Given the description of an element on the screen output the (x, y) to click on. 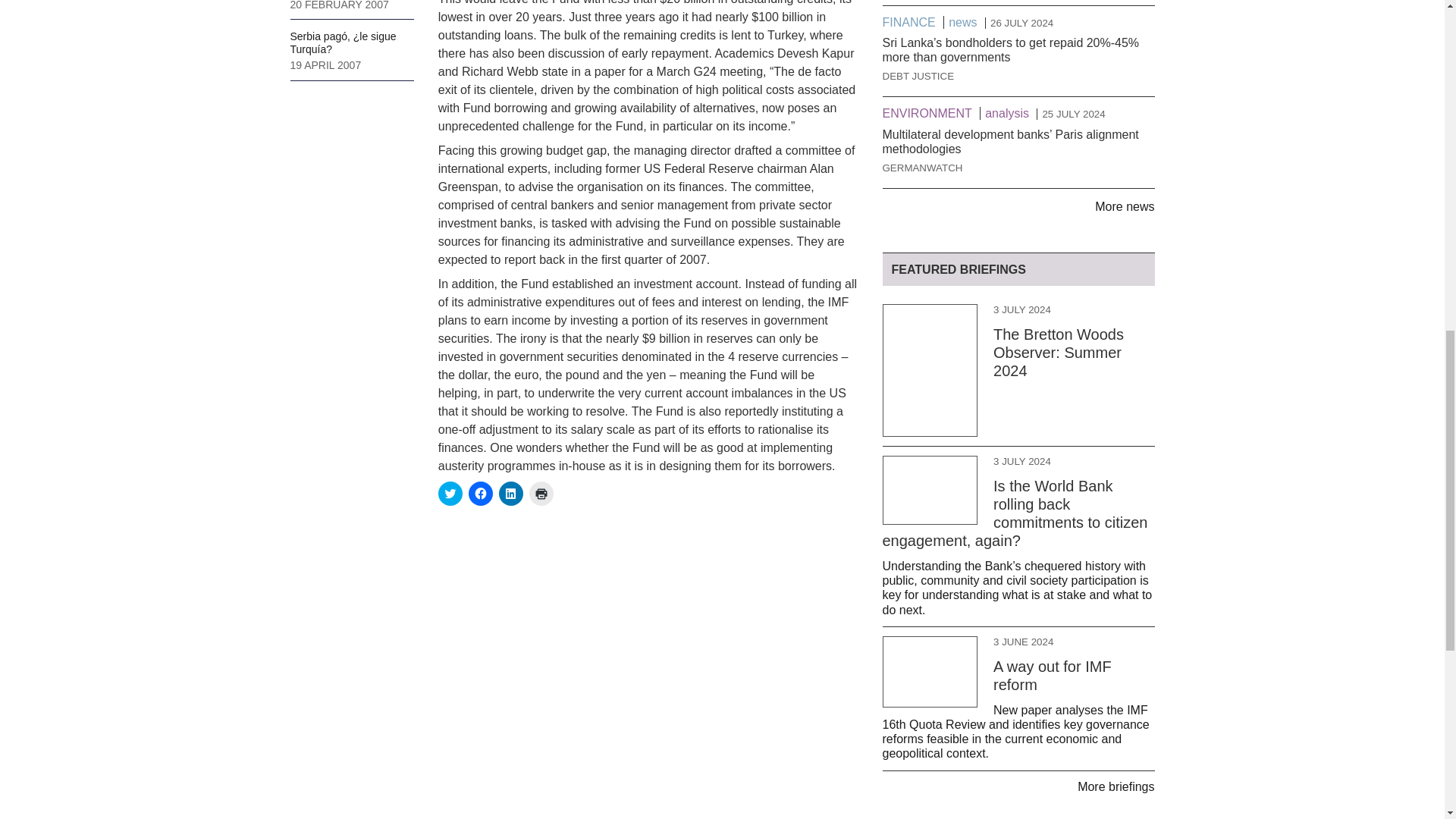
Click to share on LinkedIn (510, 493)
Click to print (541, 493)
Click to share on Facebook (480, 493)
Click to share on Twitter (450, 493)
